Given the description of an element on the screen output the (x, y) to click on. 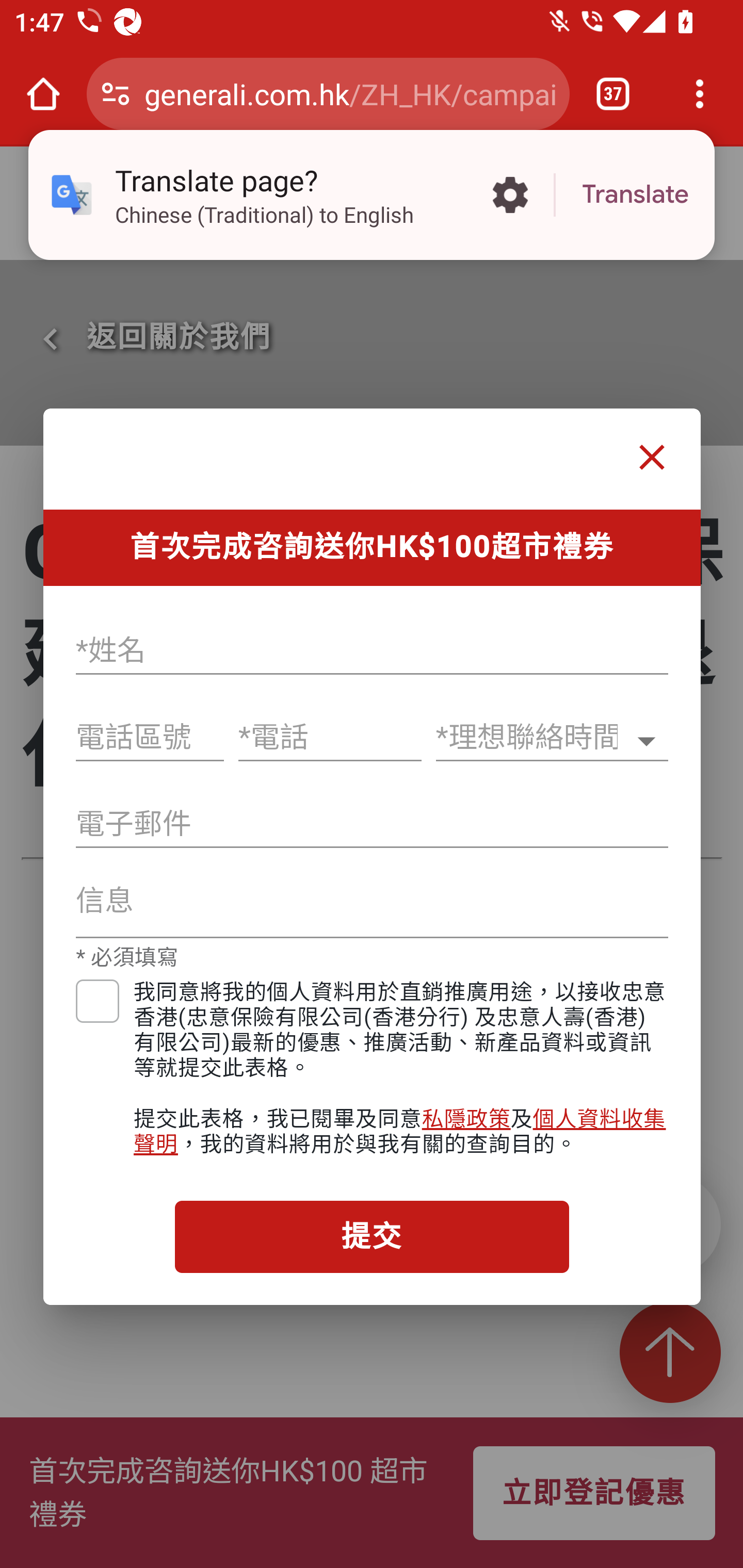
Open the home page (43, 93)
Connection is secure (115, 93)
Switch or close tabs (612, 93)
Customize and control Google Chrome (699, 93)
Translate (634, 195)
More options in the Translate page? (509, 195)
